Given the description of an element on the screen output the (x, y) to click on. 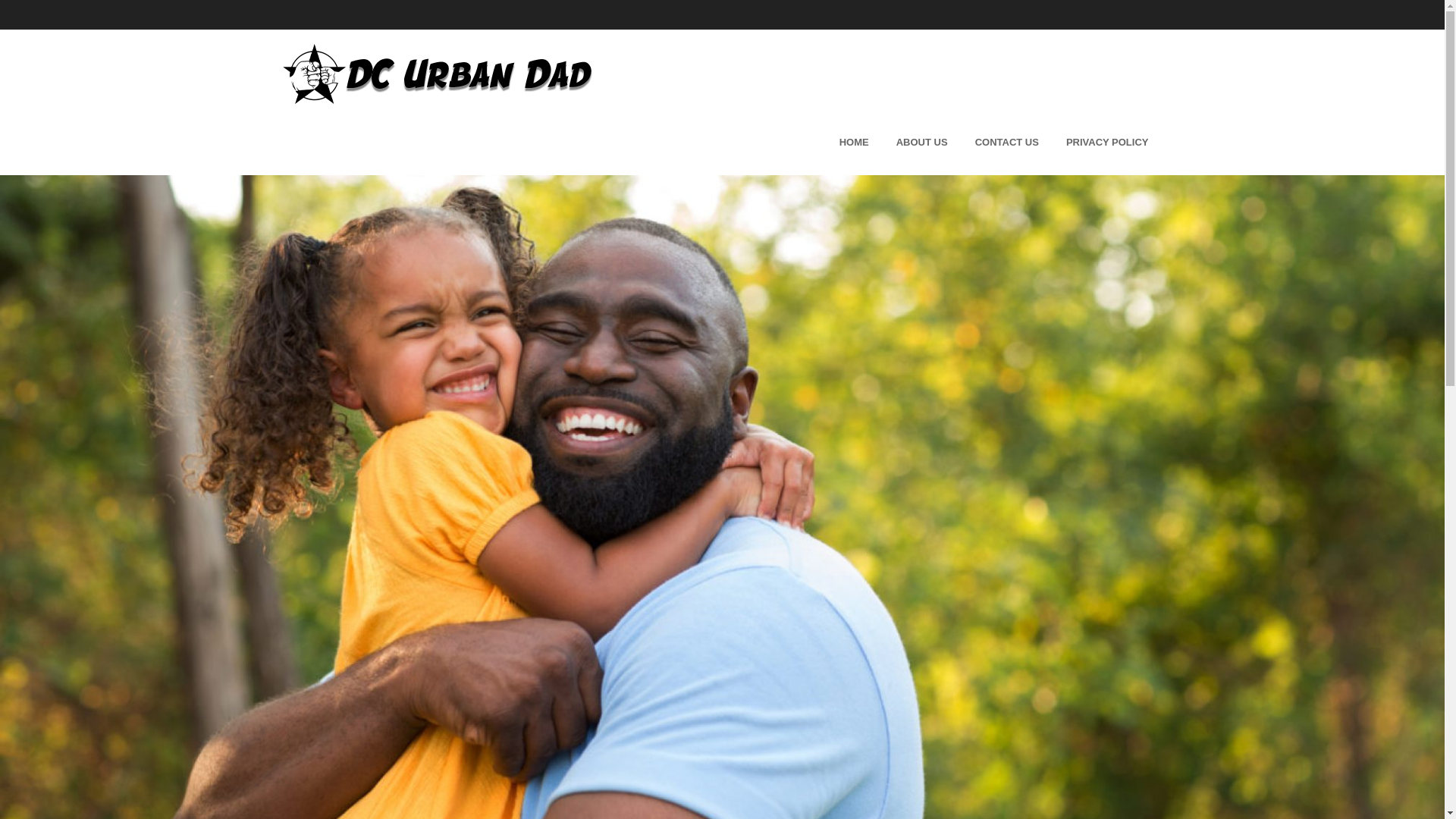
Search (26, 14)
ABOUT US (921, 139)
Skip to content (604, 139)
CONTACT US (1006, 139)
SKIP TO CONTENT (604, 139)
PRIVACY POLICY (1106, 139)
DC Urban Dad (436, 74)
